Given the description of an element on the screen output the (x, y) to click on. 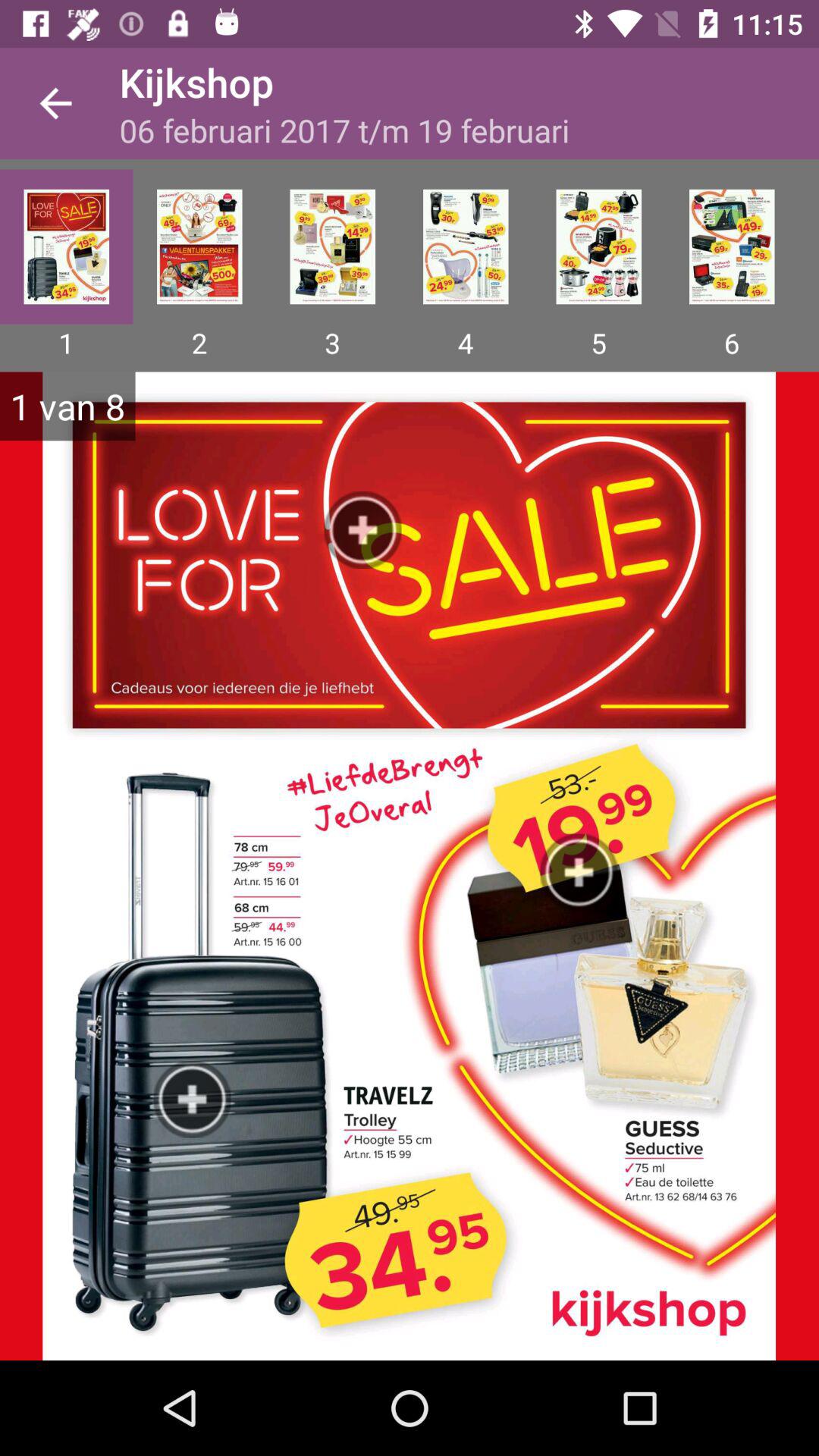
select app below 06 februari 2017 (465, 246)
